Given the description of an element on the screen output the (x, y) to click on. 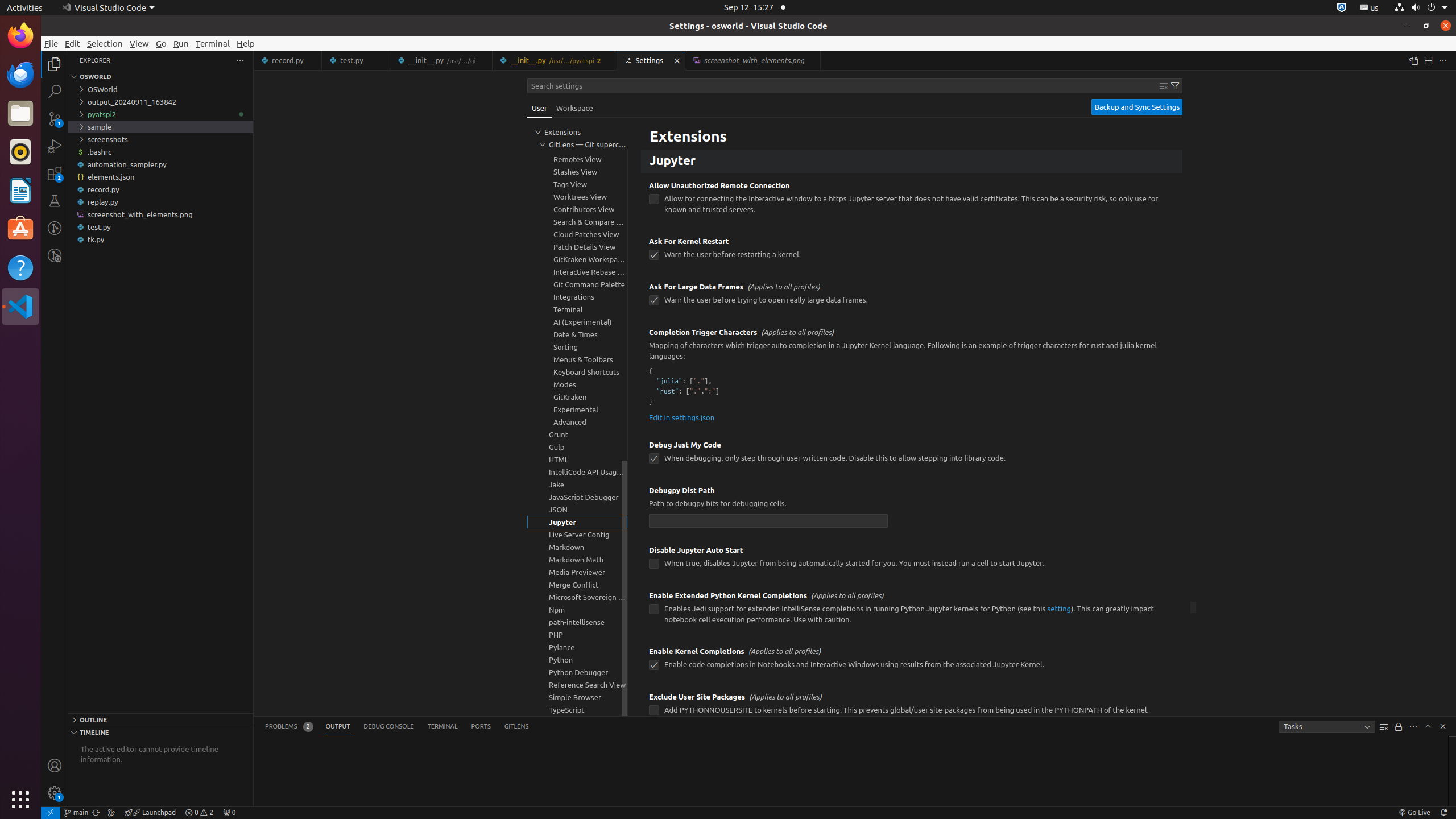
screenshots Element type: tree-item (160, 139)
OSWorld (Git) - Synchronize Changes Element type: push-button (95, 812)
Turn Auto Scrolling Off Element type: check-box (1398, 726)
Simple Browser, group Element type: tree-item (577, 697)
No Ports Forwarded Element type: push-button (228, 812)
